Given the description of an element on the screen output the (x, y) to click on. 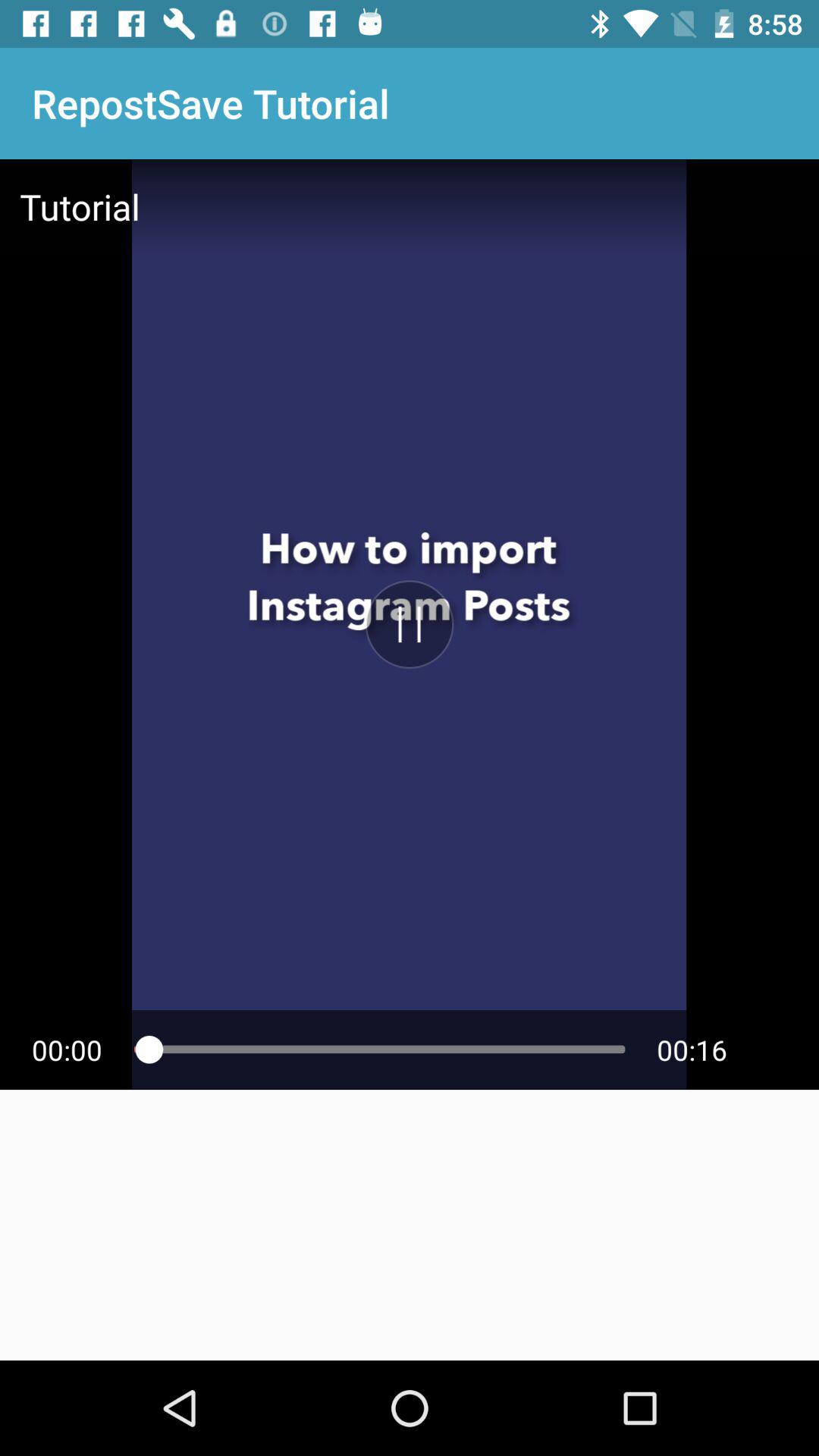
video on and stop button (409, 624)
